Given the description of an element on the screen output the (x, y) to click on. 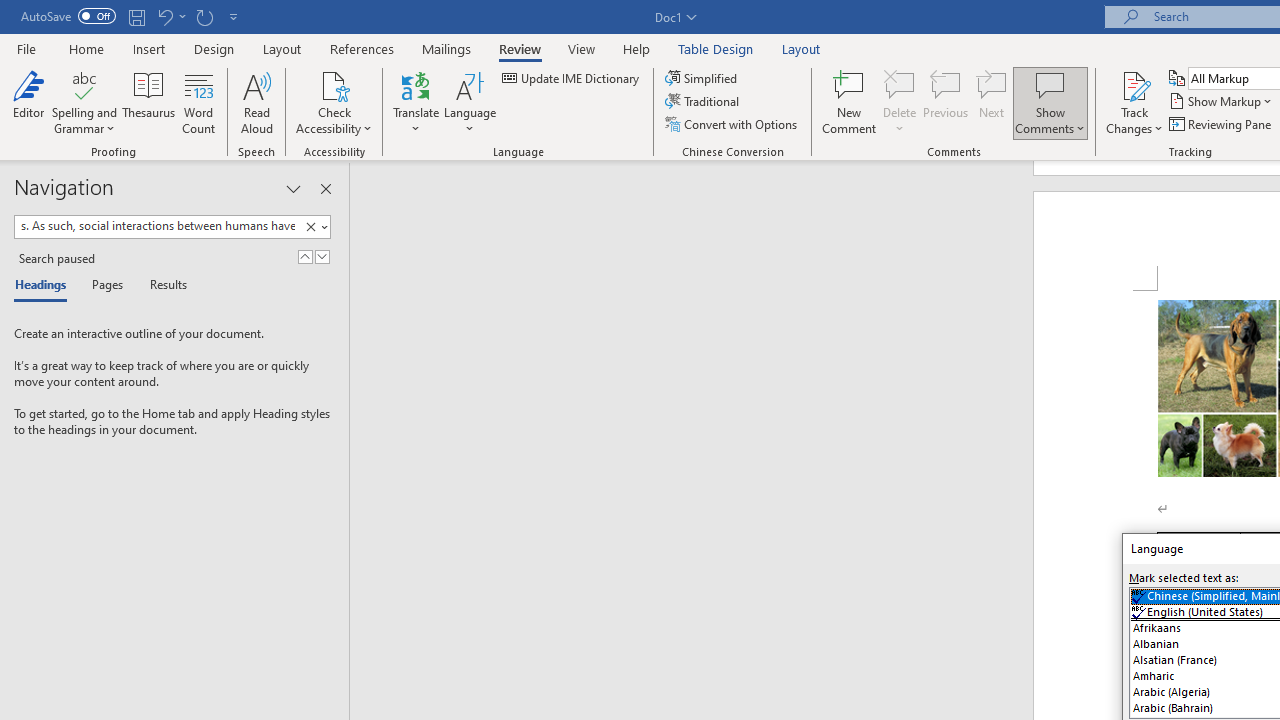
Undo Style (164, 15)
Show Comments (1050, 84)
New Comment (849, 102)
Track Changes (1134, 84)
Word Count (198, 102)
Previous Result (304, 256)
Delete (900, 102)
